Given the description of an element on the screen output the (x, y) to click on. 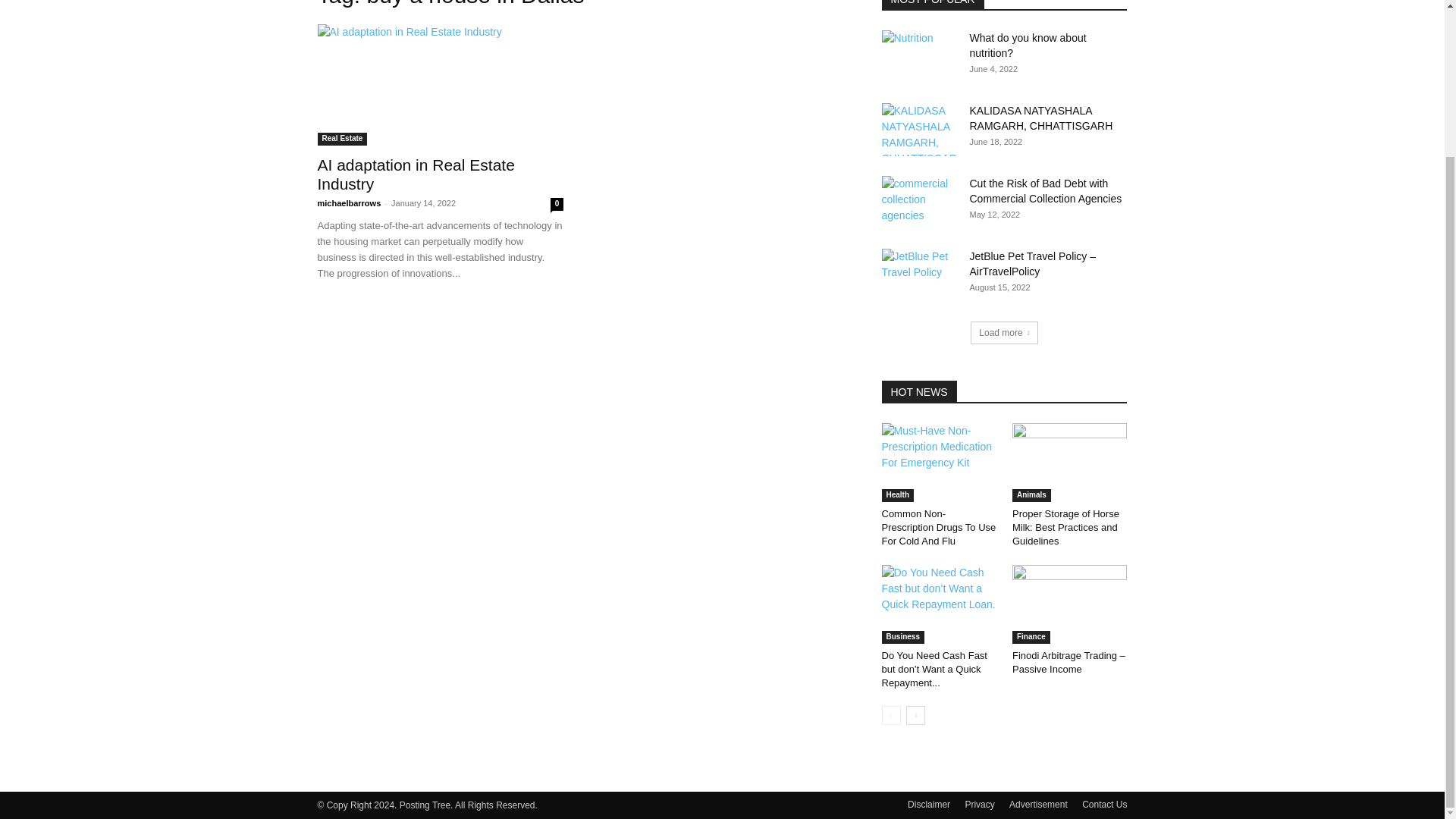
What do you know about nutrition? (918, 56)
Cut the Risk of Bad Debt with Commercial Collection Agencies (1045, 190)
Search (1085, 2)
Real Estate (341, 138)
What do you know about nutrition? (1027, 44)
AI adaptation in Real Estate Industry (415, 174)
What do you know about nutrition? (1027, 44)
KALIDASA NATYASHALA  RAMGARH, CHHATTISGARH (918, 129)
AI adaptation in Real Estate Industry (439, 84)
michaelbarrows (348, 203)
0 (556, 204)
AI adaptation in Real Estate Industry (415, 174)
KALIDASA NATYASHALA RAMGARH, CHHATTISGARH (1040, 117)
Cut the Risk of Bad Debt with Commercial Collection Agencies (918, 202)
KALIDASA NATYASHALA  RAMGARH, CHHATTISGARH (1040, 117)
